Given the description of an element on the screen output the (x, y) to click on. 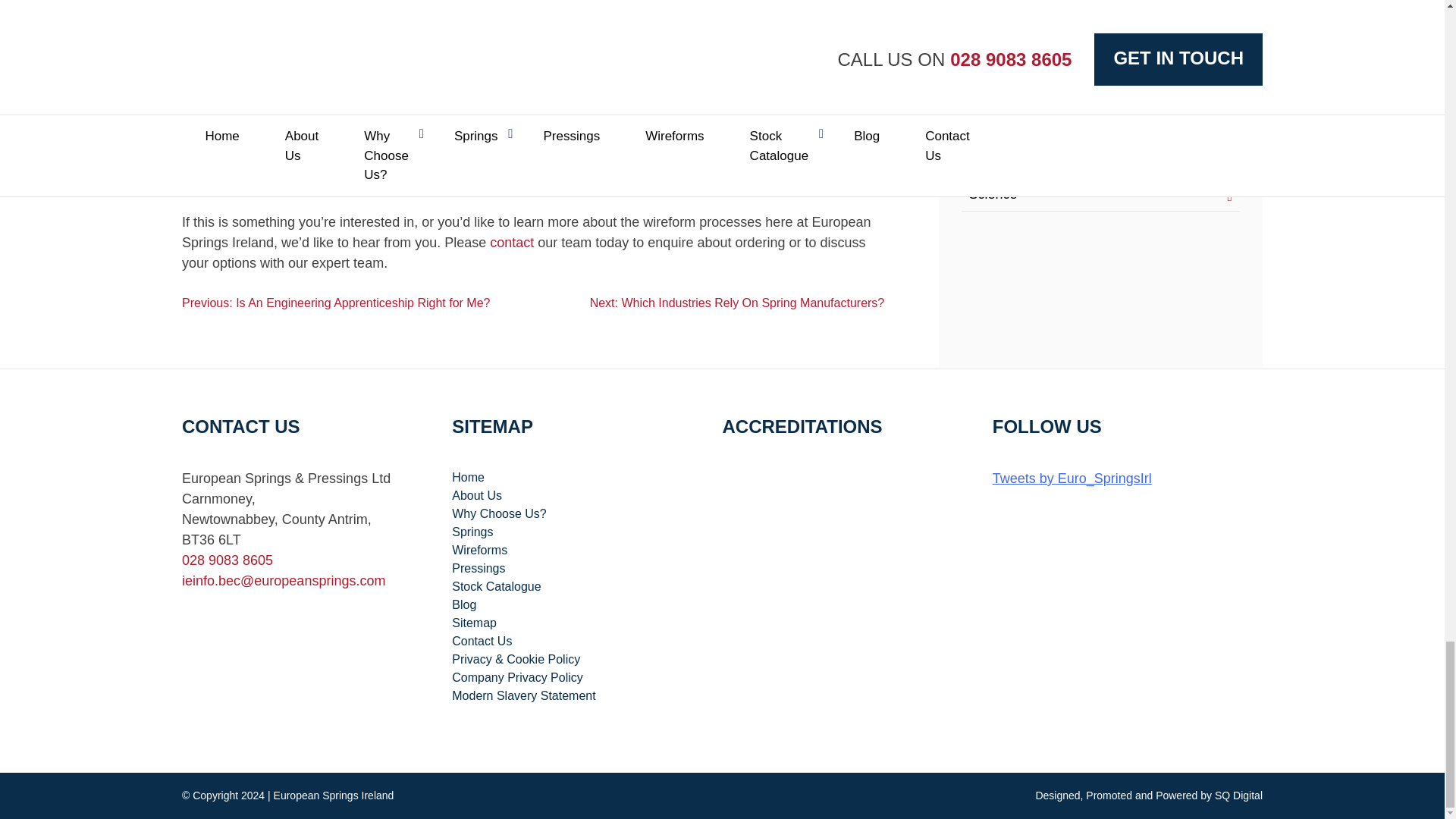
accreditations (807, 504)
